Given the description of an element on the screen output the (x, y) to click on. 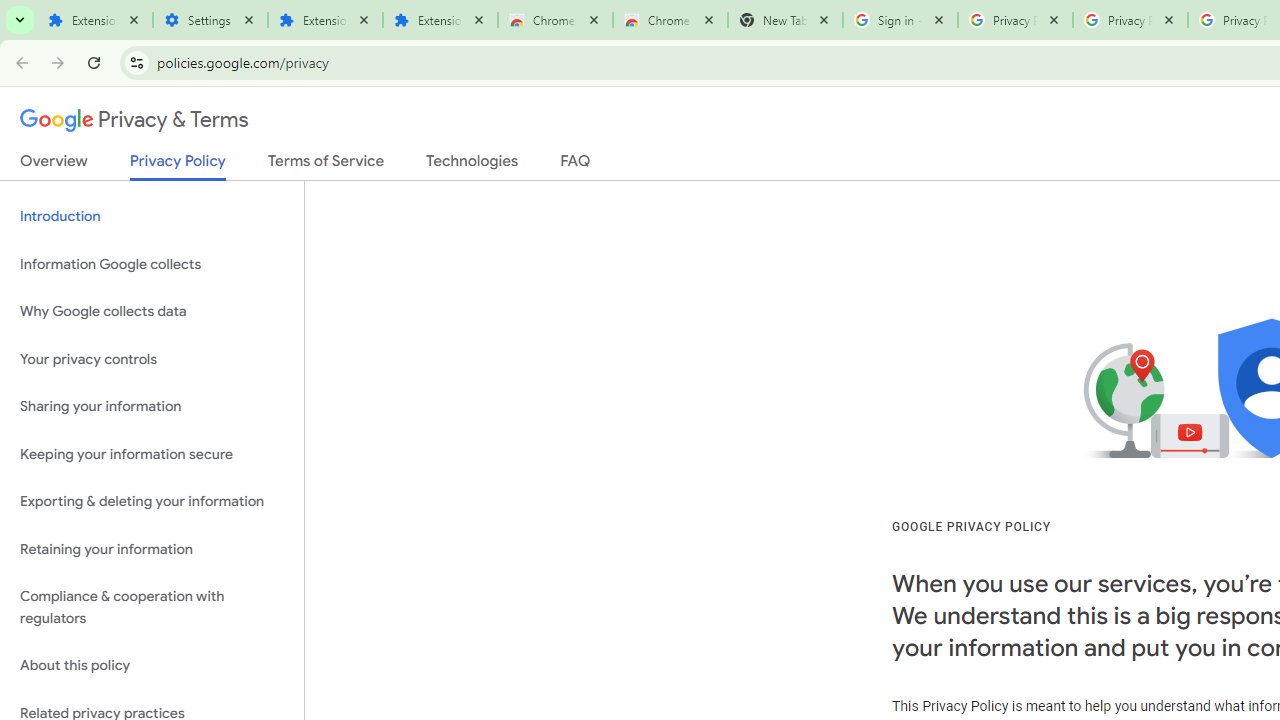
Retaining your information (152, 548)
Chrome Web Store - Themes (670, 20)
Technologies (472, 165)
Keeping your information secure (152, 453)
Terms of Service (326, 165)
Privacy Policy (177, 166)
FAQ (575, 165)
Information Google collects (152, 263)
Why Google collects data (152, 312)
Your privacy controls (152, 358)
